Given the description of an element on the screen output the (x, y) to click on. 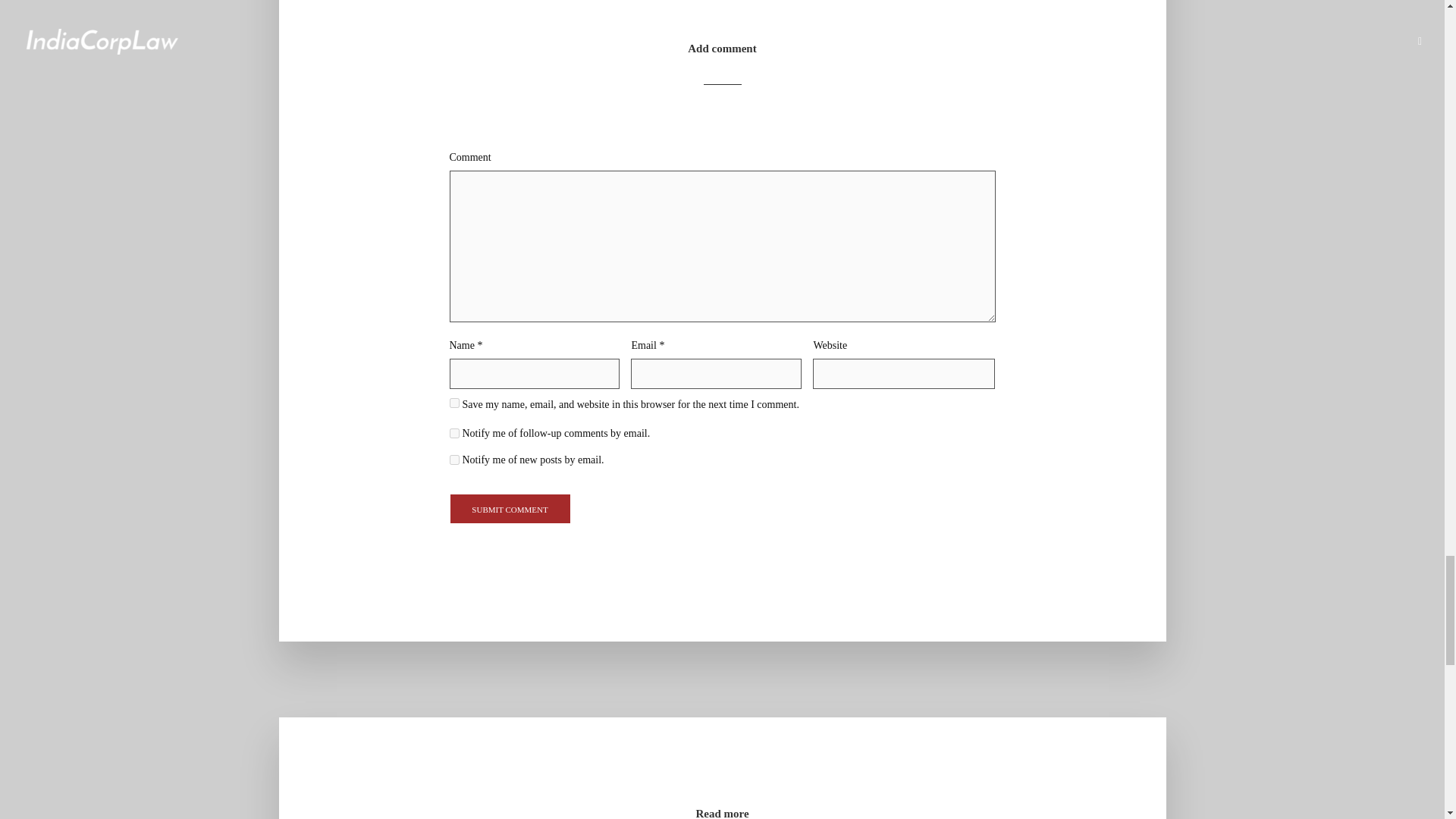
yes (453, 402)
subscribe (453, 460)
subscribe (453, 433)
Submit Comment (509, 508)
Submit Comment (509, 508)
